Given the description of an element on the screen output the (x, y) to click on. 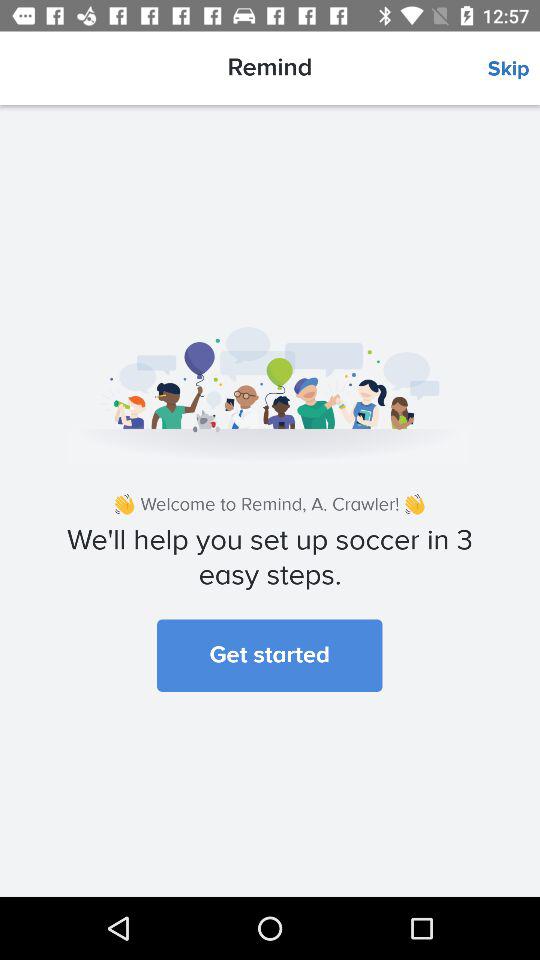
choose the skip item (513, 69)
